Given the description of an element on the screen output the (x, y) to click on. 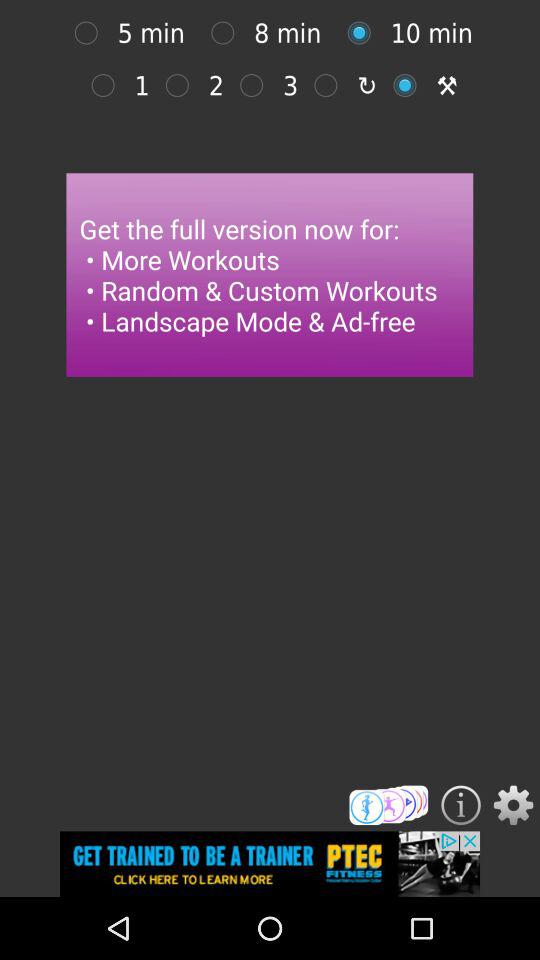
auto 8 min (227, 32)
